Given the description of an element on the screen output the (x, y) to click on. 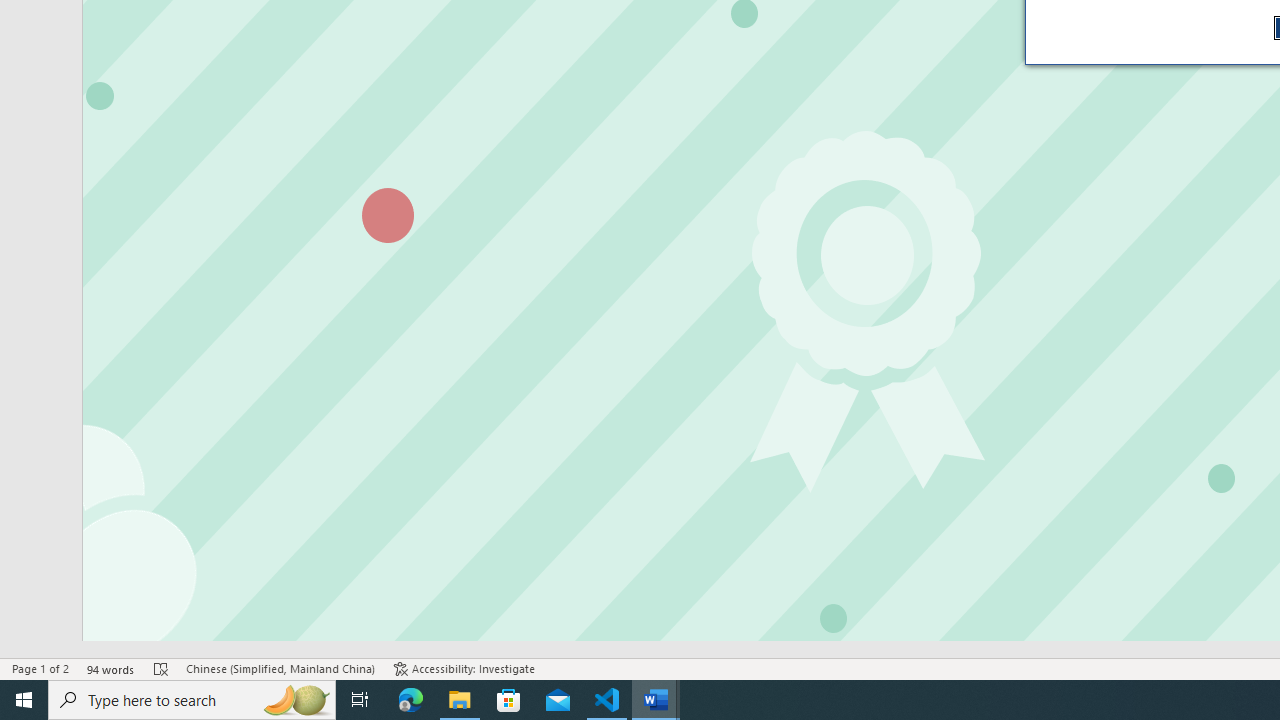
Spelling and Grammar Check Errors (161, 668)
Microsoft Store (509, 699)
Type here to search (191, 699)
Visual Studio Code - 1 running window (607, 699)
Language Chinese (Simplified, Mainland China) (279, 668)
Microsoft Edge (411, 699)
Word - 2 running windows (656, 699)
Page Number Page 1 of 2 (39, 668)
Search highlights icon opens search home window (295, 699)
Task View (359, 699)
Word Count 94 words (111, 668)
File Explorer - 1 running window (460, 699)
Start (24, 699)
